Given the description of an element on the screen output the (x, y) to click on. 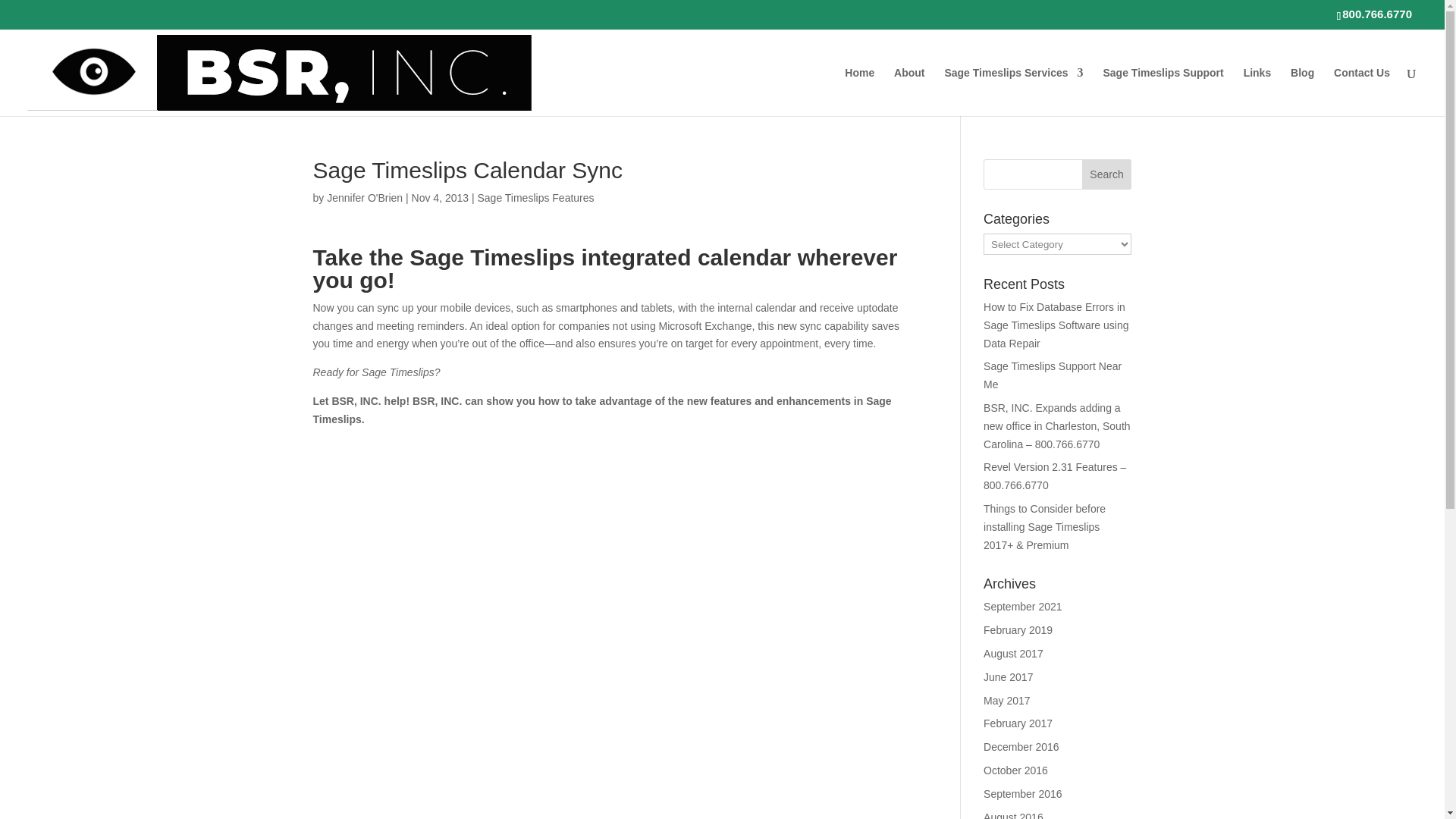
Sage Timeslips Support (1162, 90)
800.766.6770 (1377, 13)
Posts by Jennifer O'Brien (364, 197)
Contact Us (1361, 90)
Search (1106, 173)
Sage Timeslips Services (1013, 90)
